Given the description of an element on the screen output the (x, y) to click on. 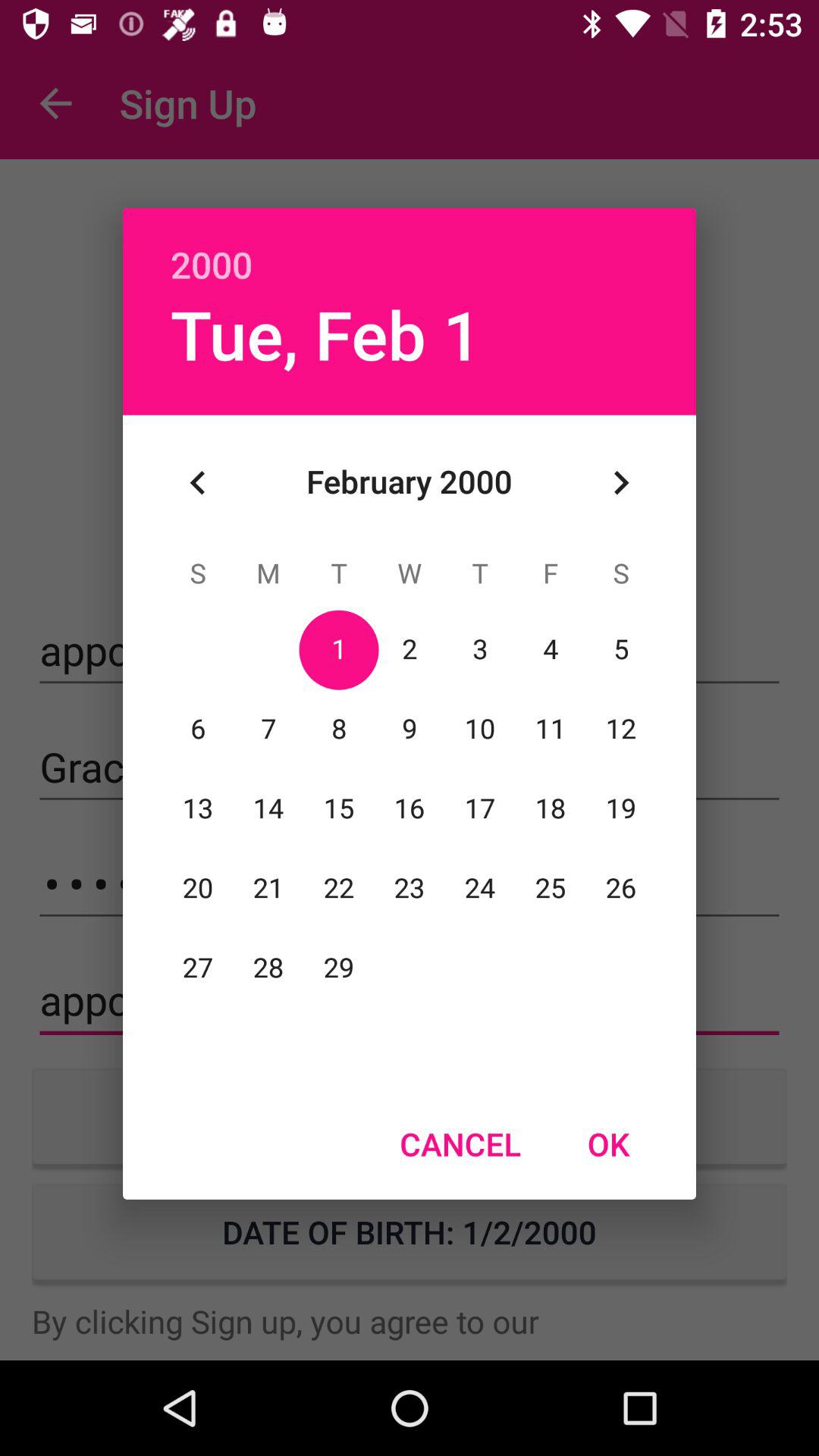
swipe to the cancel (459, 1143)
